Given the description of an element on the screen output the (x, y) to click on. 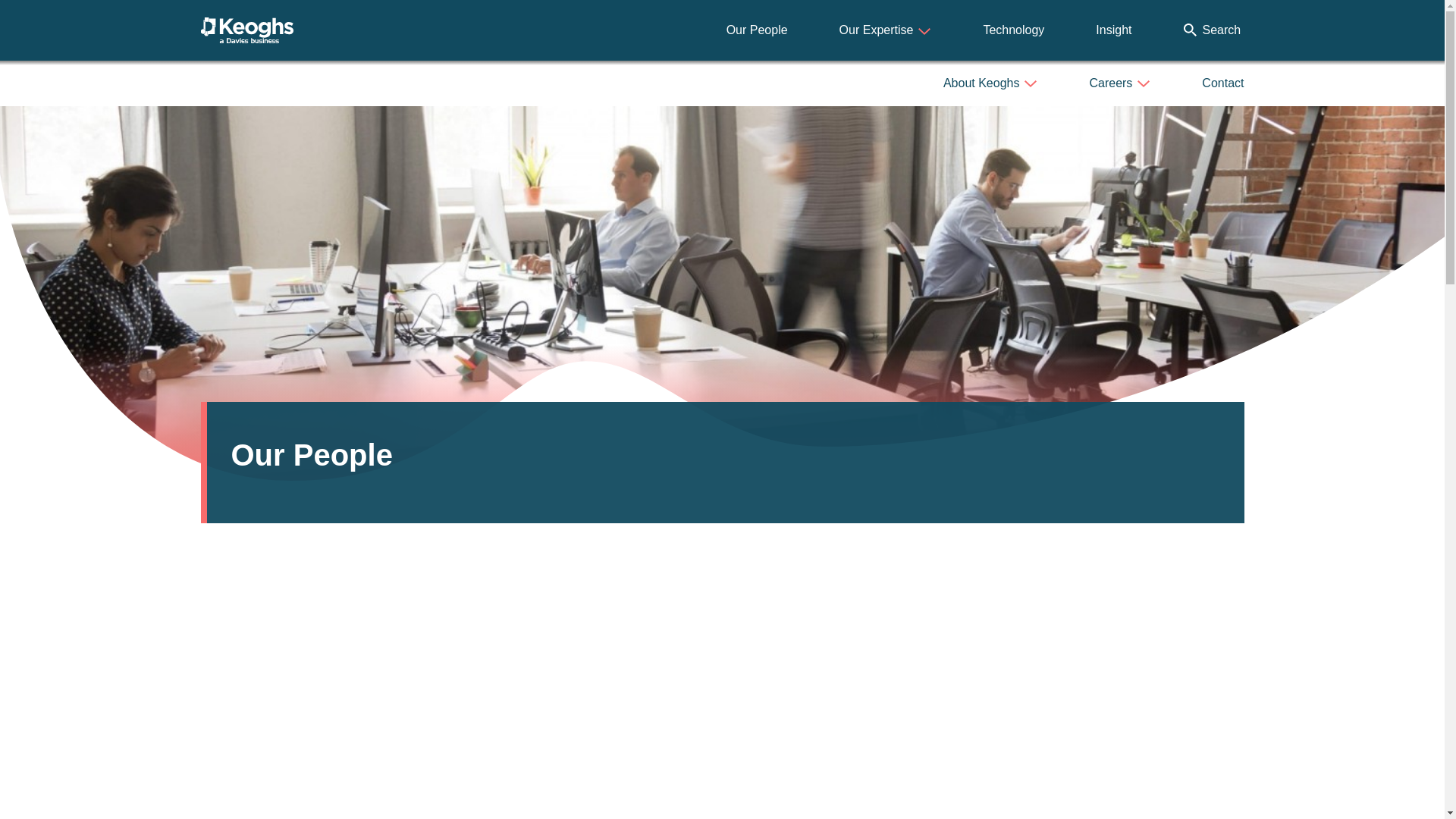
Our People (756, 30)
Technology (1012, 30)
Our Expertise (885, 30)
